Given the description of an element on the screen output the (x, y) to click on. 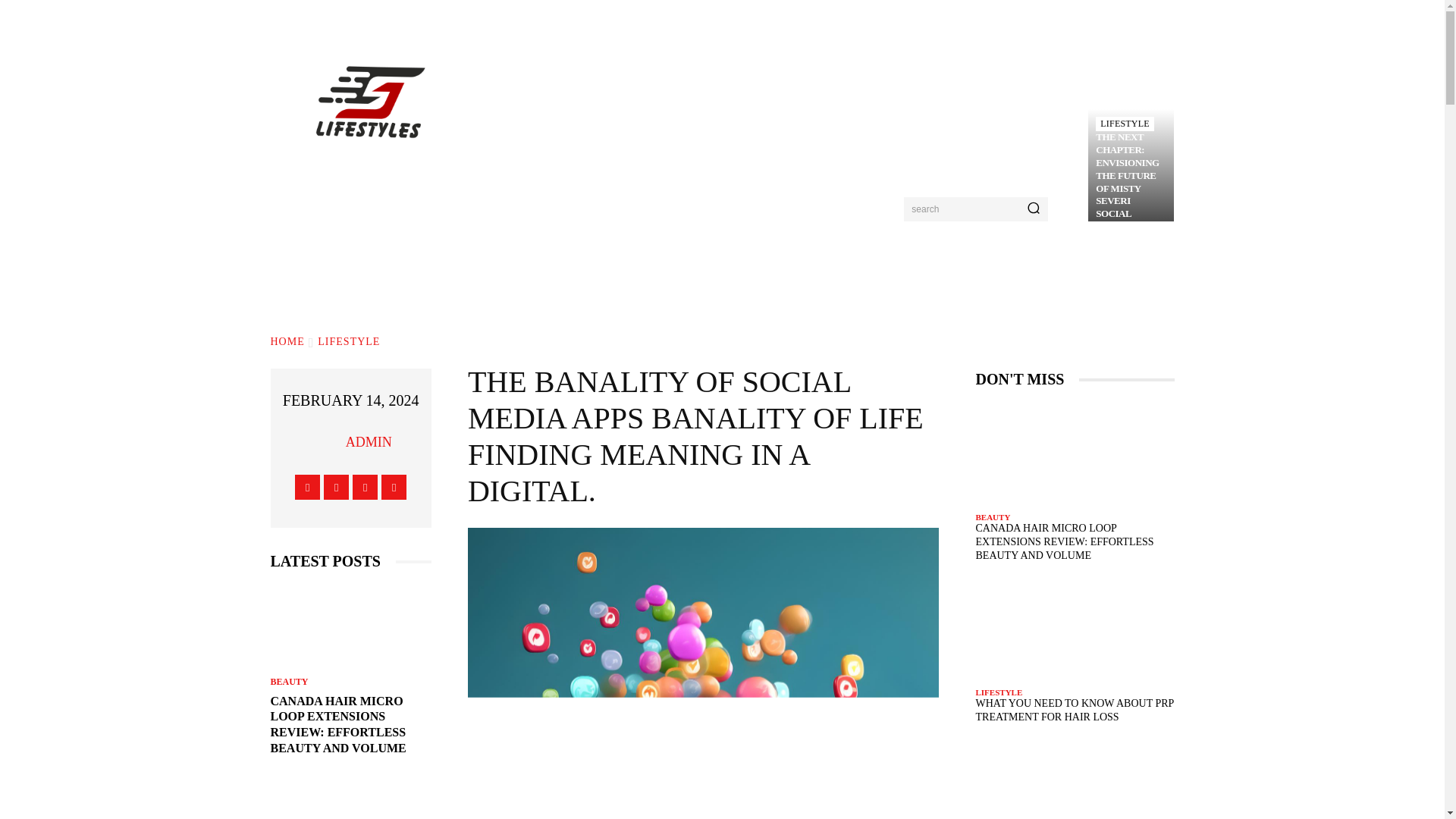
What You Need to Know About PRP Treatment for Hair Loss (349, 799)
LIFESTYLE (1124, 124)
admin (326, 441)
Youtube (393, 487)
Twitter (364, 487)
Instagram (336, 487)
Facebook (307, 487)
LIFESTYLE (348, 341)
HOME (286, 341)
